Given the description of an element on the screen output the (x, y) to click on. 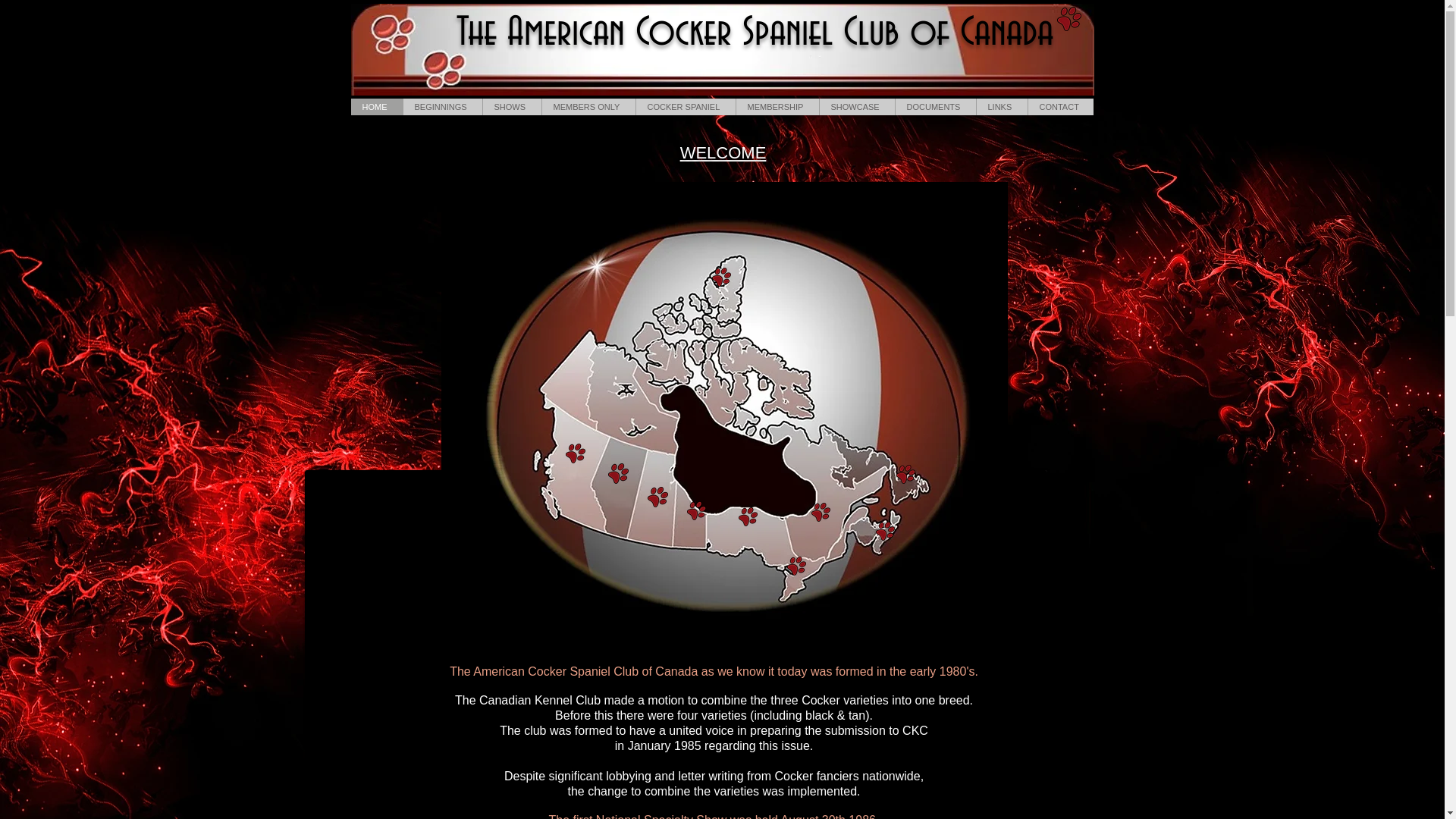
HOME Element type: text (375, 106)
BEGINNINGS Element type: text (441, 106)
CONTACT Element type: text (1059, 106)
LINKS Element type: text (1000, 106)
SHOWCASE Element type: text (856, 106)
MEMBERS ONLY Element type: text (588, 106)
